Given the description of an element on the screen output the (x, y) to click on. 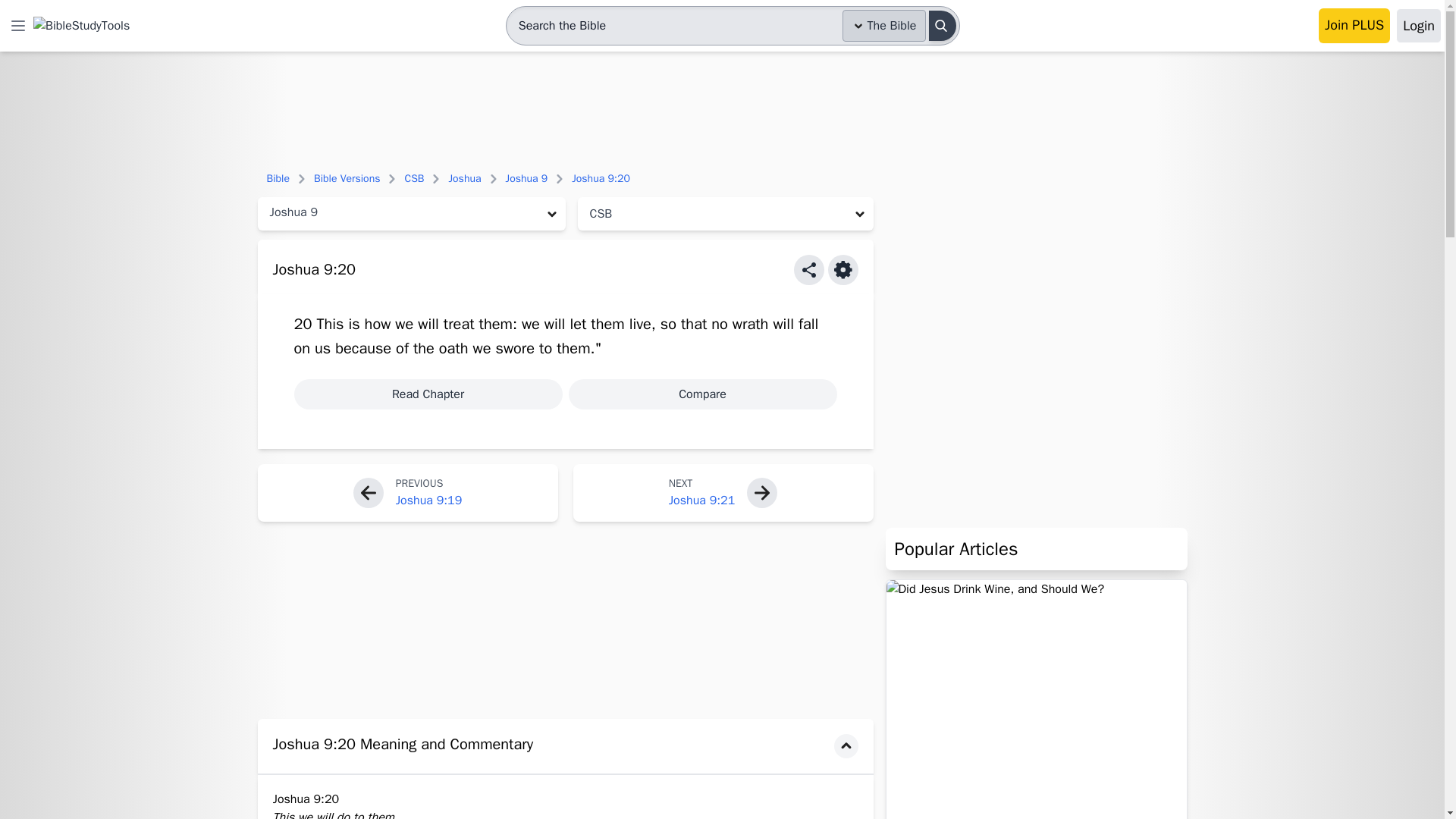
Scripture Settings (843, 269)
The Bible (884, 25)
Join PLUS (1354, 25)
Login (1418, 25)
